Given the description of an element on the screen output the (x, y) to click on. 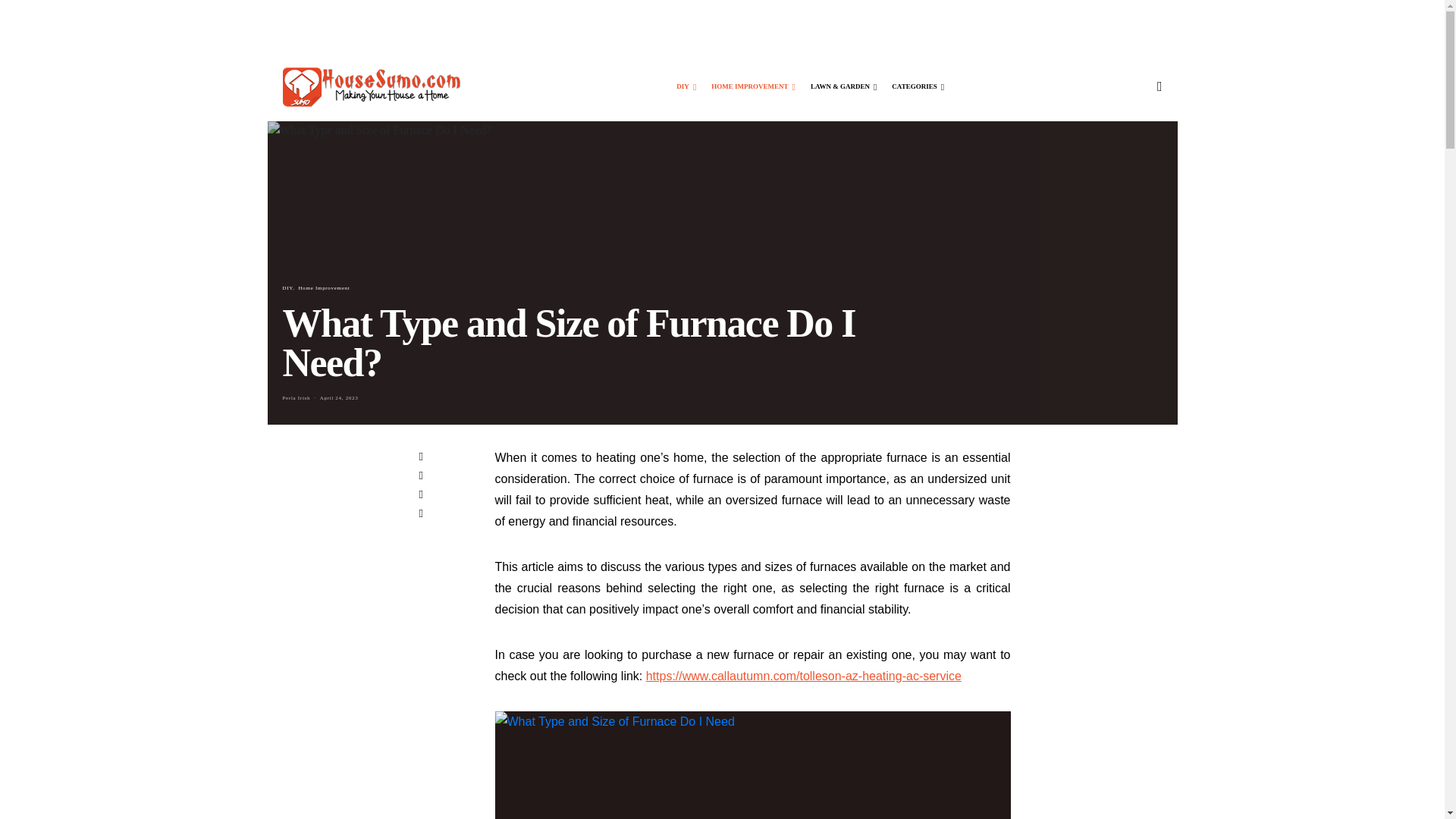
View all posts by Perla Irish (296, 396)
What Type and Size of Furnace Do I Need? (752, 765)
